Given the description of an element on the screen output the (x, y) to click on. 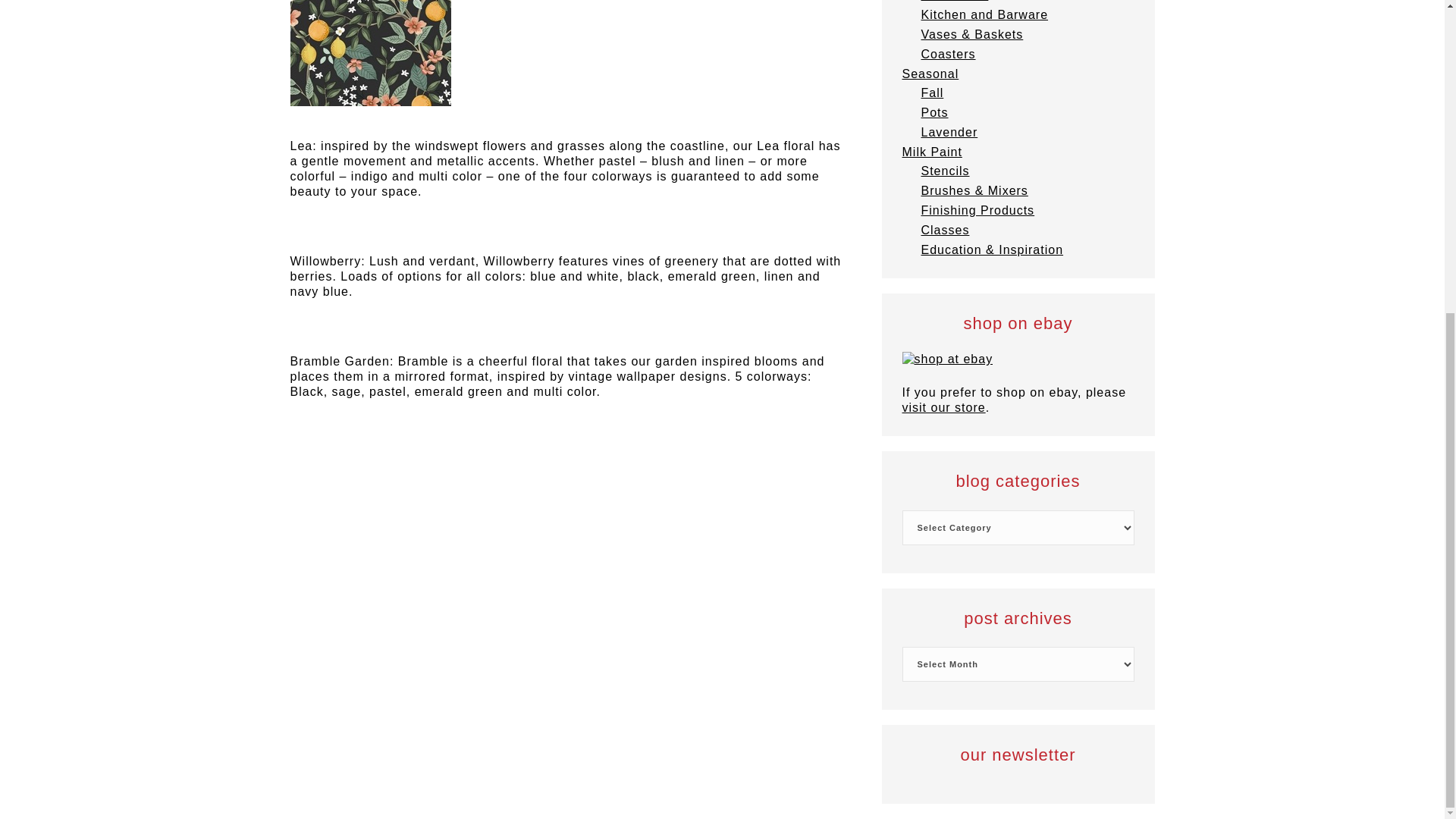
Classes (944, 229)
Fall (931, 92)
Finishing Products (976, 210)
Pots (933, 112)
Seasonal (930, 73)
Lavender (948, 132)
Stencils (944, 170)
Kitchen and Barware (984, 14)
Coasters (947, 53)
Tea Towels (954, 0)
